Given the description of an element on the screen output the (x, y) to click on. 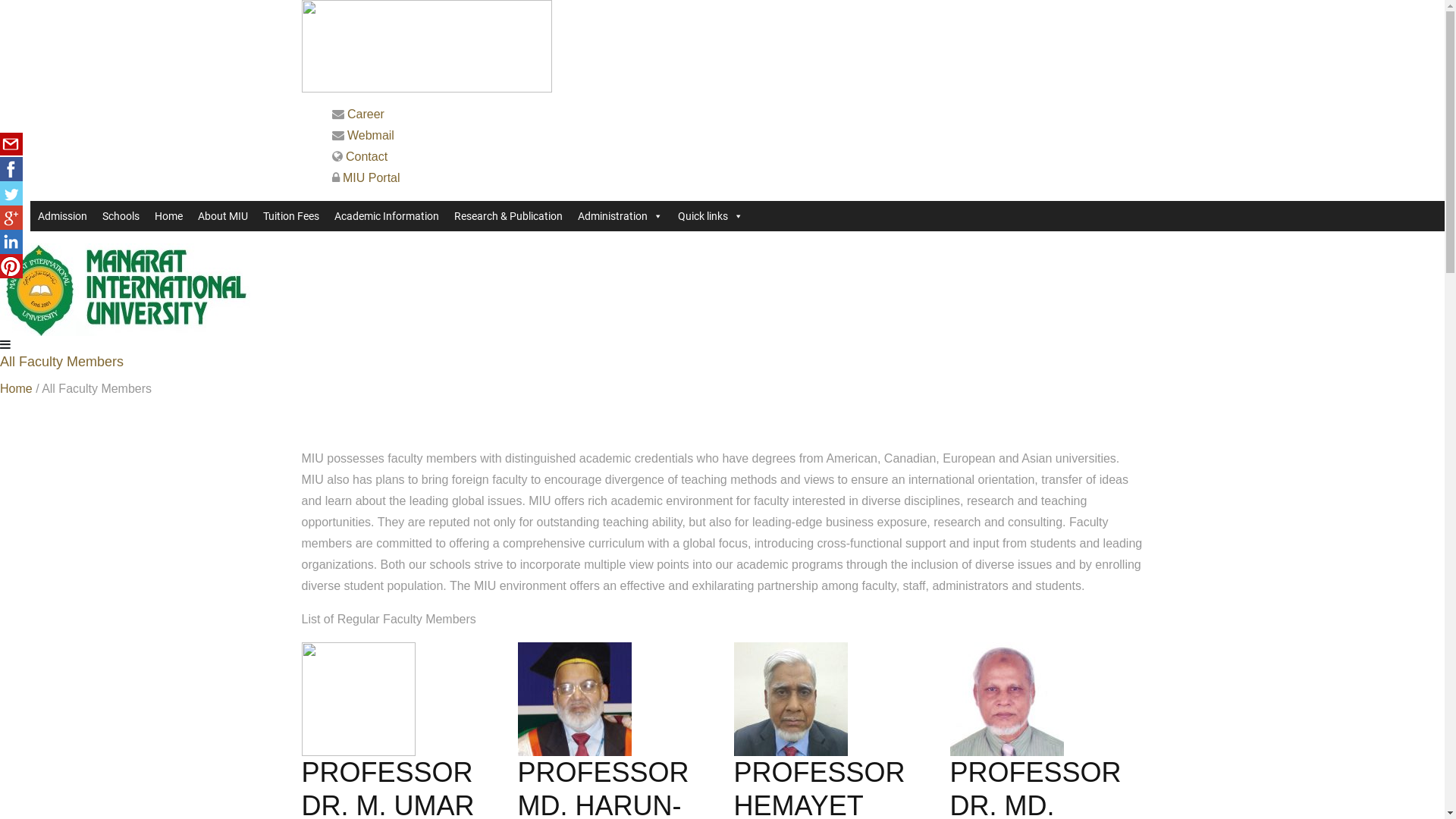
Tuition Fees Element type: text (290, 215)
Webmail Element type: text (370, 134)
Academic Information Element type: text (386, 215)
Career Element type: text (365, 113)
Admission Element type: text (62, 215)
Administration Element type: text (620, 215)
Home Element type: text (168, 215)
Schools Element type: text (120, 215)
Home Element type: text (16, 388)
Research & Publication Element type: text (508, 215)
MIU Portal Element type: text (371, 177)
About MIU Element type: text (222, 215)
Contact Element type: text (366, 156)
Quick links Element type: text (710, 215)
